Given the description of an element on the screen output the (x, y) to click on. 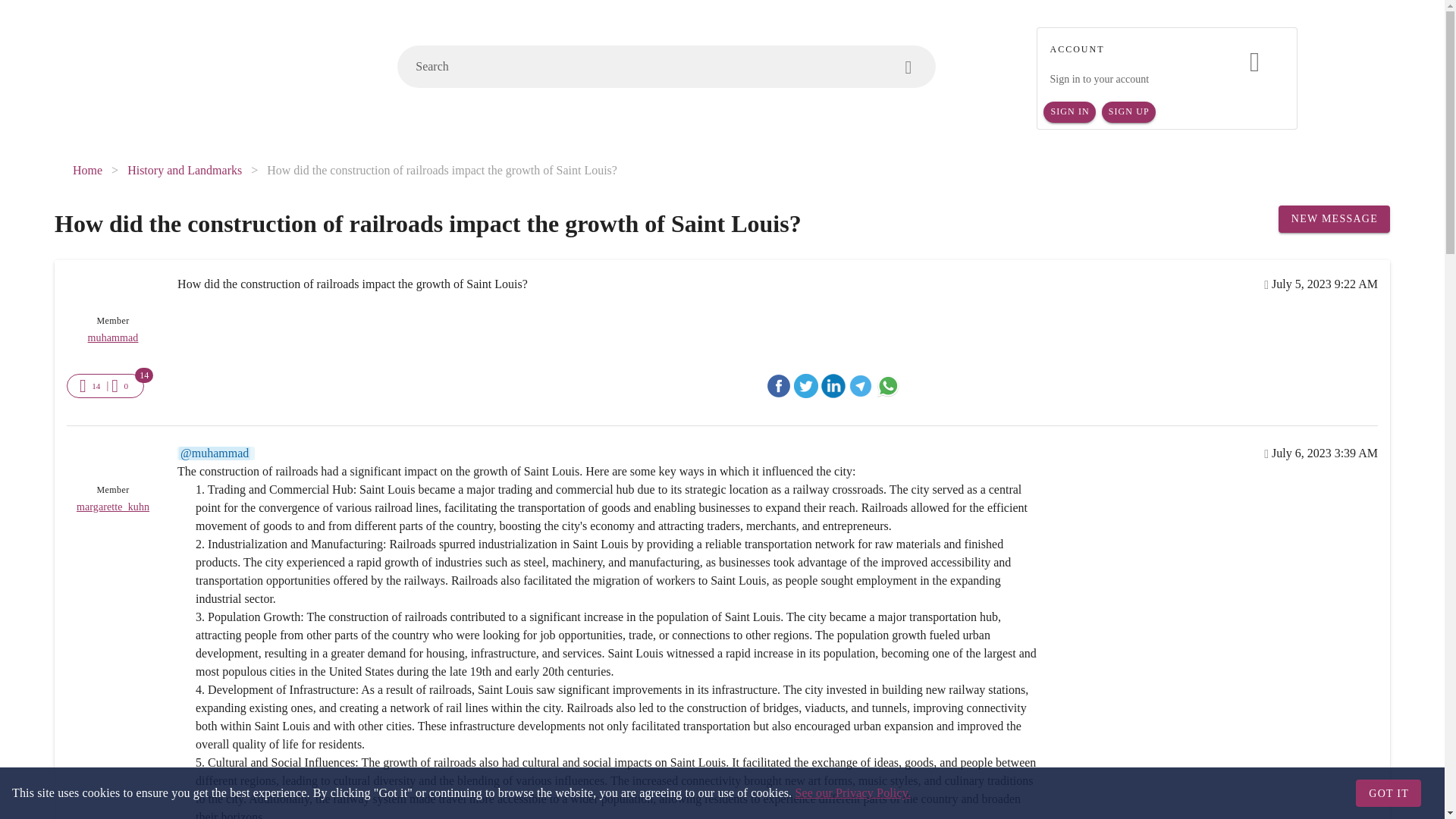
SIGN IN (1068, 111)
muhammad (112, 338)
Home (86, 170)
14 likes (95, 385)
LinkedIn (833, 385)
SIGN UP (1129, 111)
Twitter (805, 385)
14 (91, 385)
History and Landmarks (184, 170)
Whatsapp (887, 385)
